Given the description of an element on the screen output the (x, y) to click on. 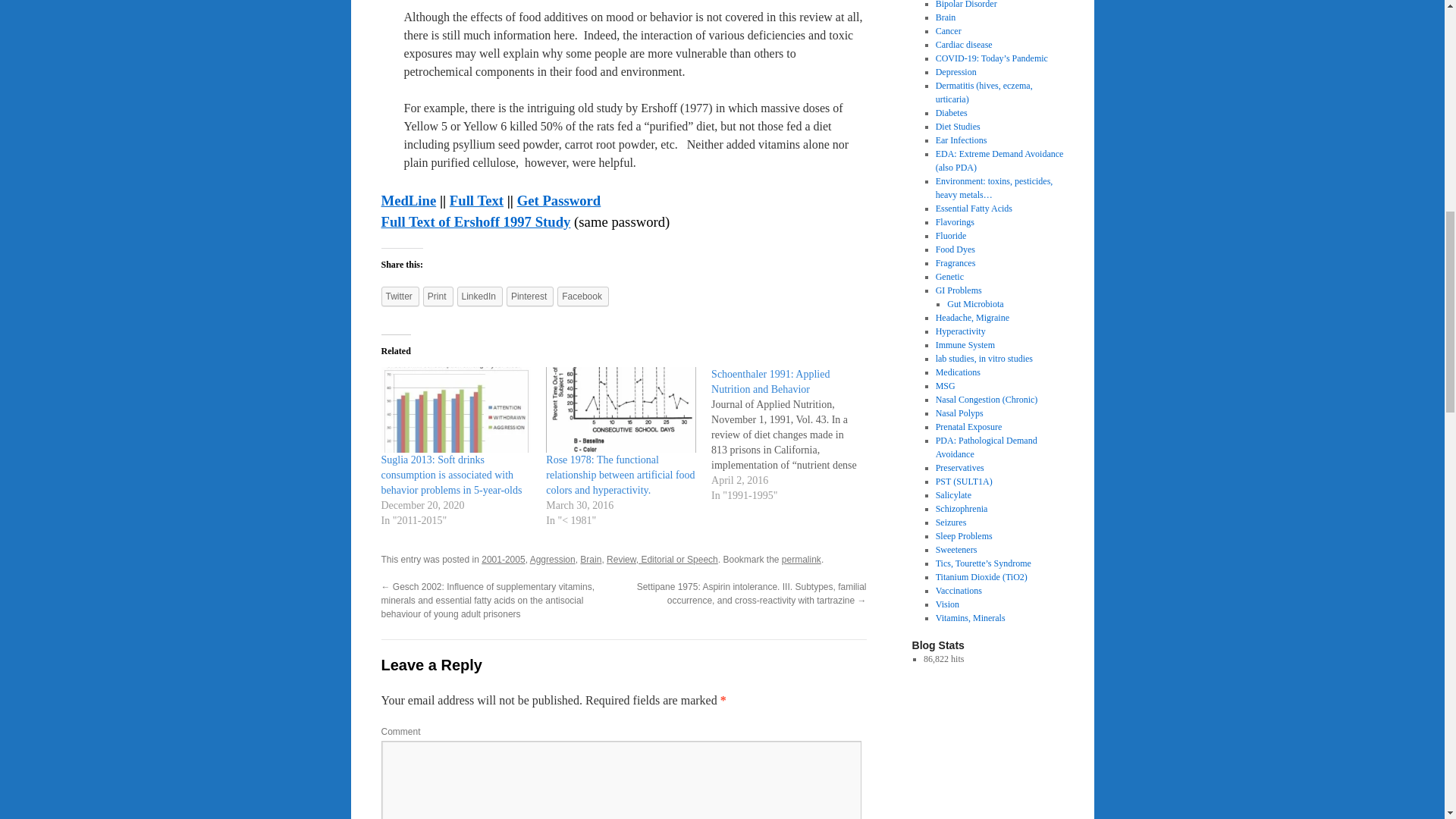
Click to print (437, 296)
Click to share on Pinterest (529, 296)
Click to share on Twitter (399, 296)
Click to share on Facebook (582, 296)
Schoenthaler 1991: Applied Nutrition and Behavior (770, 381)
MedLine (407, 200)
LinkedIn (479, 296)
